Given the description of an element on the screen output the (x, y) to click on. 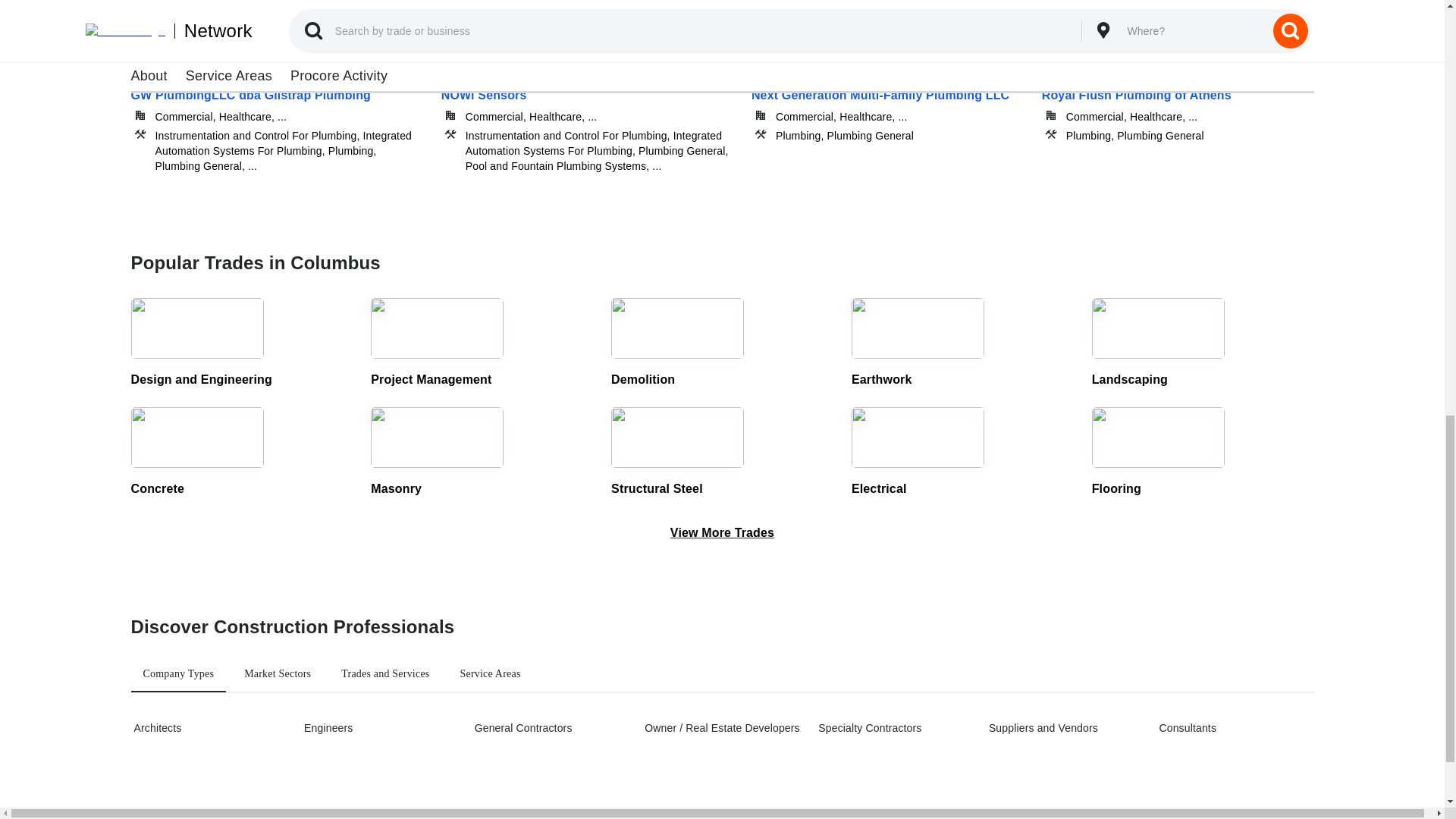
Structural Steel (721, 452)
Demolition (721, 343)
Architects (209, 727)
GW PlumbingLLC dba Gilstrap Plumbing (276, 118)
General Contractors (550, 727)
Trades and Services (385, 674)
Concrete (241, 452)
Specialty Contractors (893, 727)
Next Generation Multi-Family Plumbing LLC (887, 118)
Flooring (1203, 452)
